Given the description of an element on the screen output the (x, y) to click on. 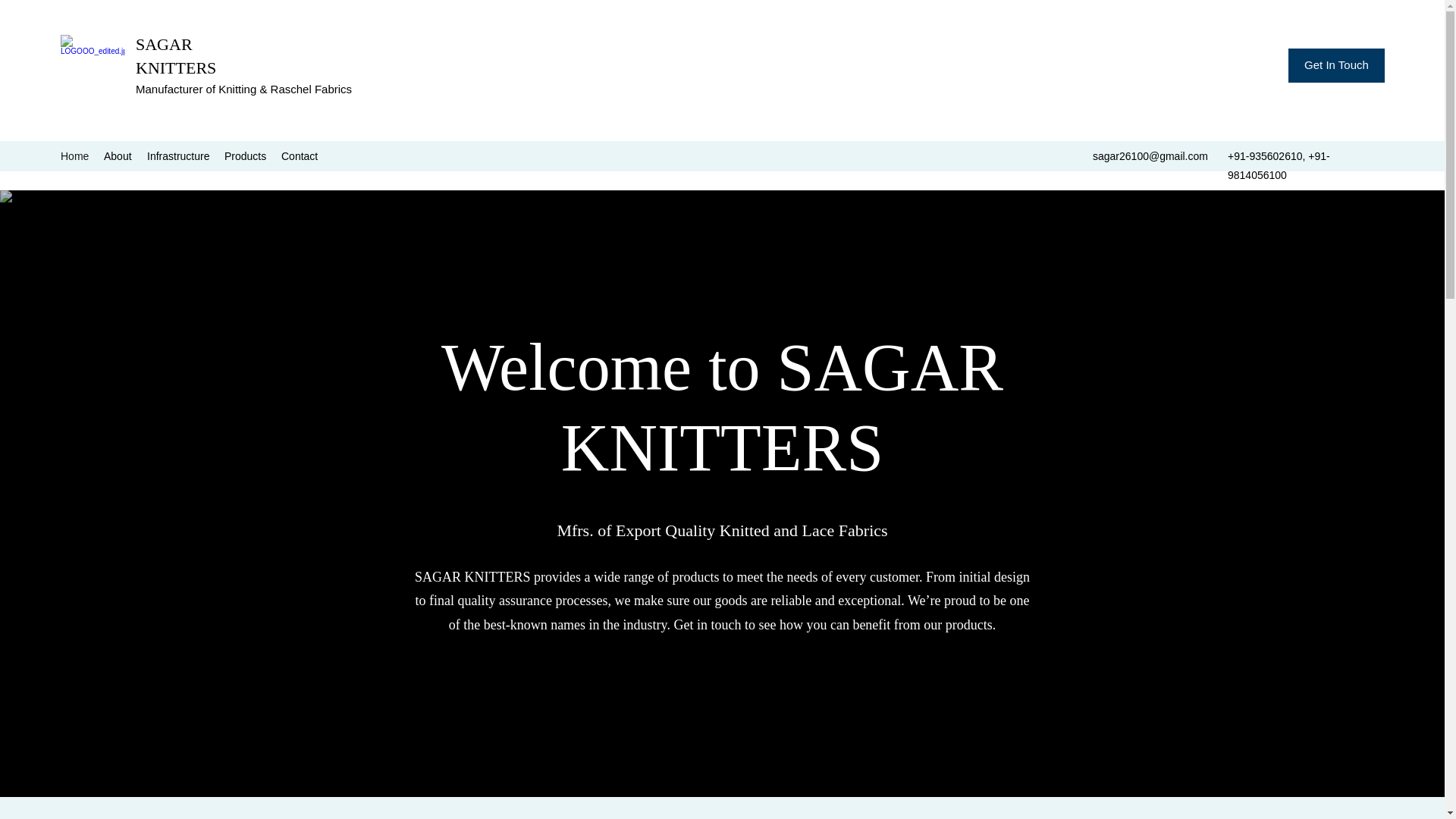
About (117, 155)
Infrastructure (177, 155)
Get In Touch (1336, 65)
Contact (298, 155)
Home (74, 155)
SAGAR KNITTERS (175, 55)
Products (244, 155)
